Given the description of an element on the screen output the (x, y) to click on. 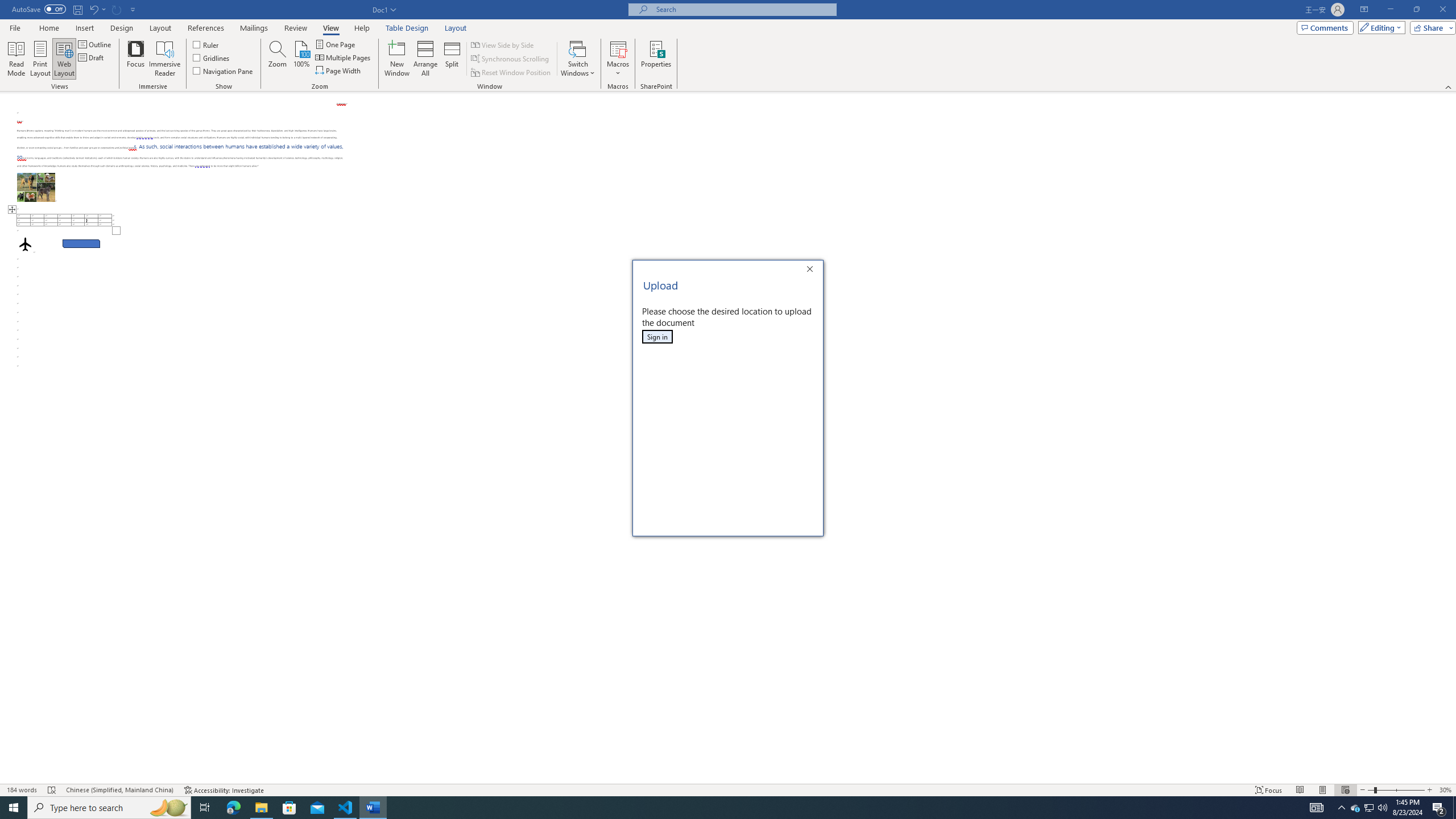
Task View (204, 807)
Airplane with solid fill (25, 243)
Accessibility Checker Accessibility: Investigate (224, 790)
Print Layout (40, 58)
System (6, 6)
Outline (95, 44)
Word - 1 running window (373, 807)
View Side by Side (502, 44)
Synchronous Scrolling (510, 58)
Zoom Out (1370, 790)
Help (361, 28)
Microsoft Edge (233, 807)
Restore Down (1416, 9)
Language Chinese (Simplified, Mainland China) (119, 790)
Search highlights icon opens search home window (167, 807)
